Given the description of an element on the screen output the (x, y) to click on. 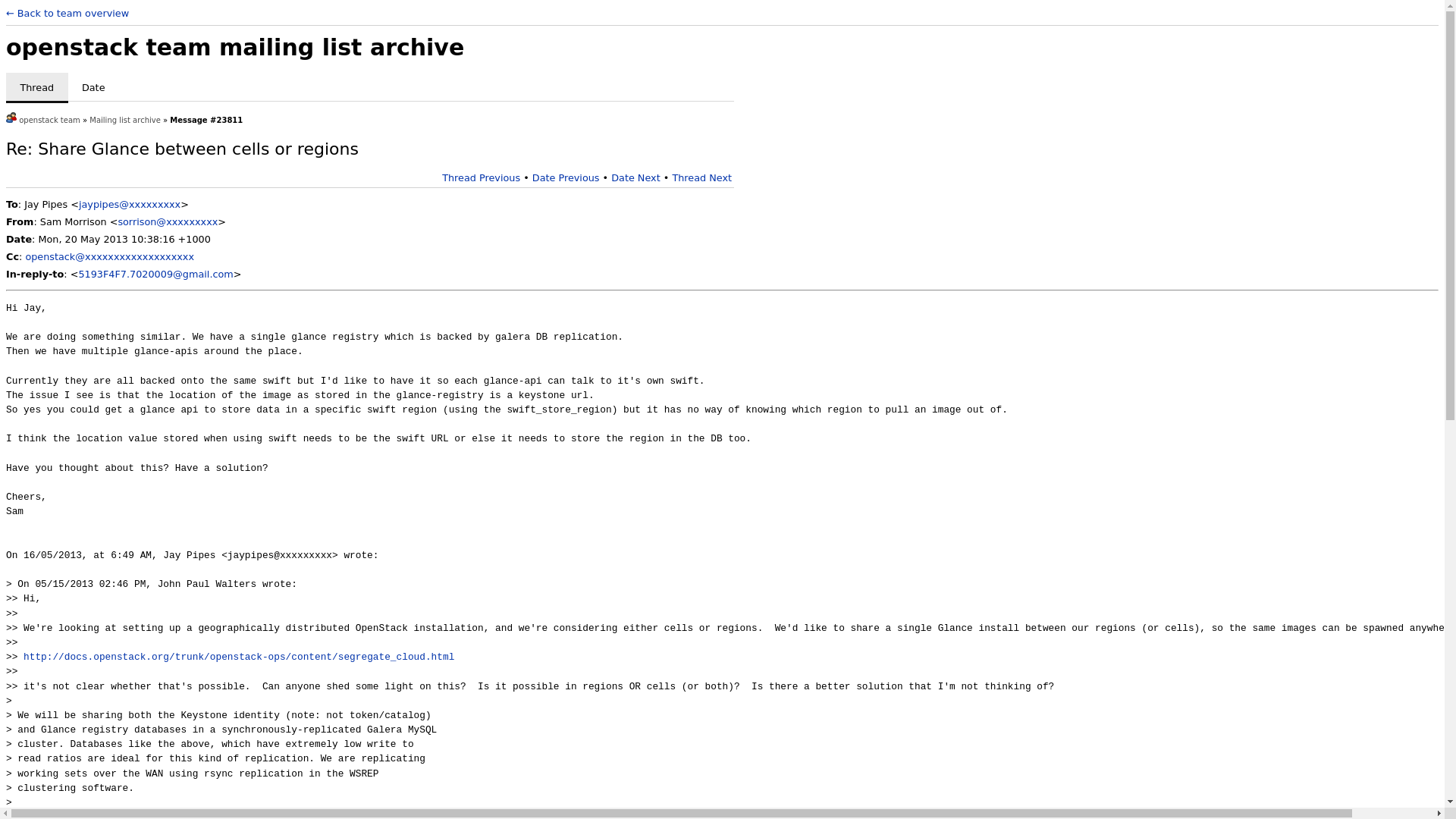
View messages by date (93, 88)
Thread (36, 87)
Thread Next (701, 177)
Mailing list archive (124, 120)
openstack team (49, 120)
Date Next (635, 177)
Date (93, 87)
Date Previous (565, 177)
Thread Previous (480, 177)
View messages by thread (36, 88)
